Given the description of an element on the screen output the (x, y) to click on. 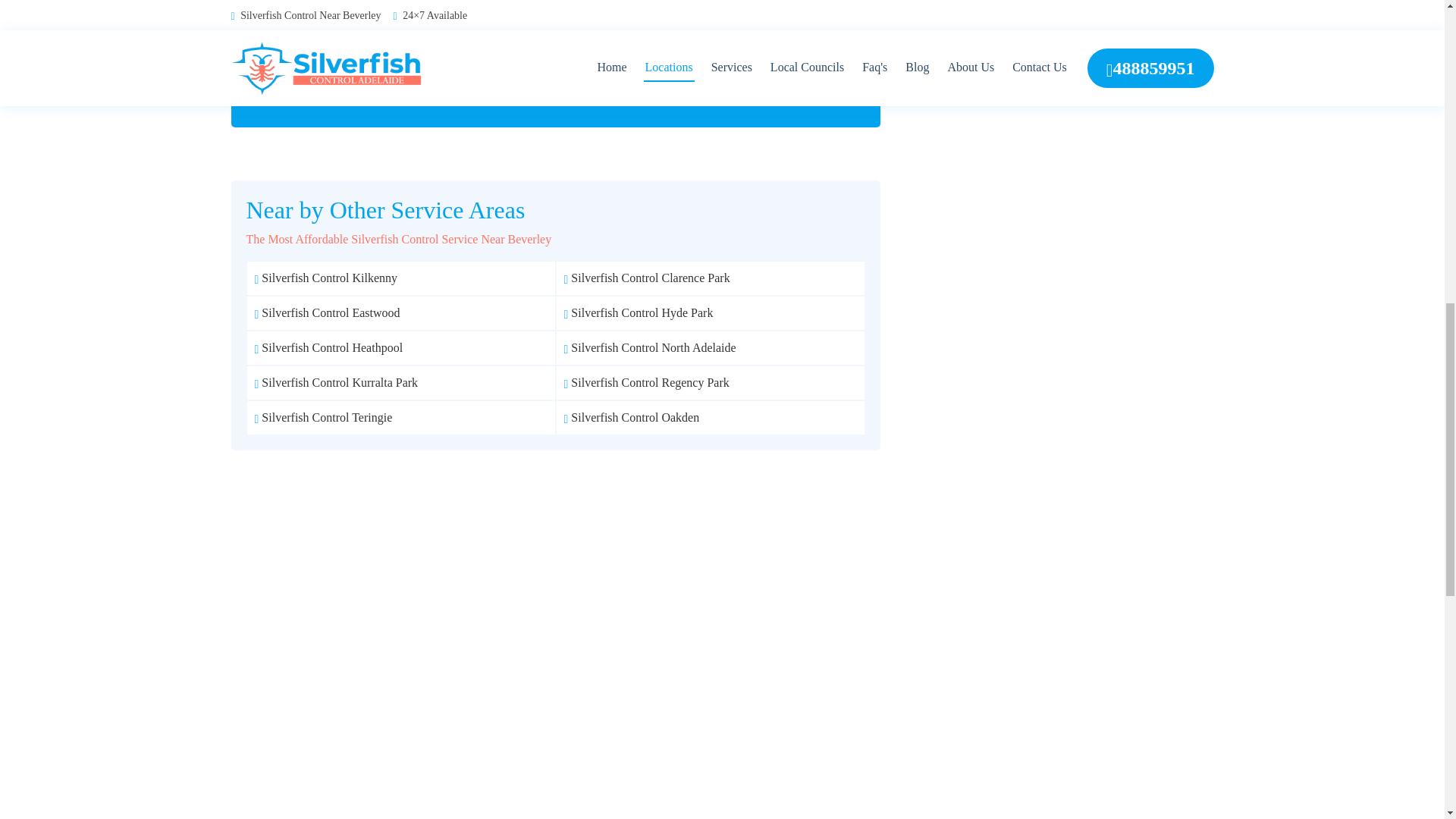
Silverfish Control Oakden (632, 417)
Silverfish Control Kurralta Park (336, 382)
Silverfish Control Clarence Park (647, 277)
Silverfish Control Eastwood (327, 312)
Silverfish Control Hyde Park (638, 312)
Silverfish Control Heathpool (328, 347)
488859951 (657, 90)
Silverfish Control Teringie (323, 417)
Silverfish Control Kilkenny (325, 277)
Silverfish Control North Adelaide (650, 347)
